Given the description of an element on the screen output the (x, y) to click on. 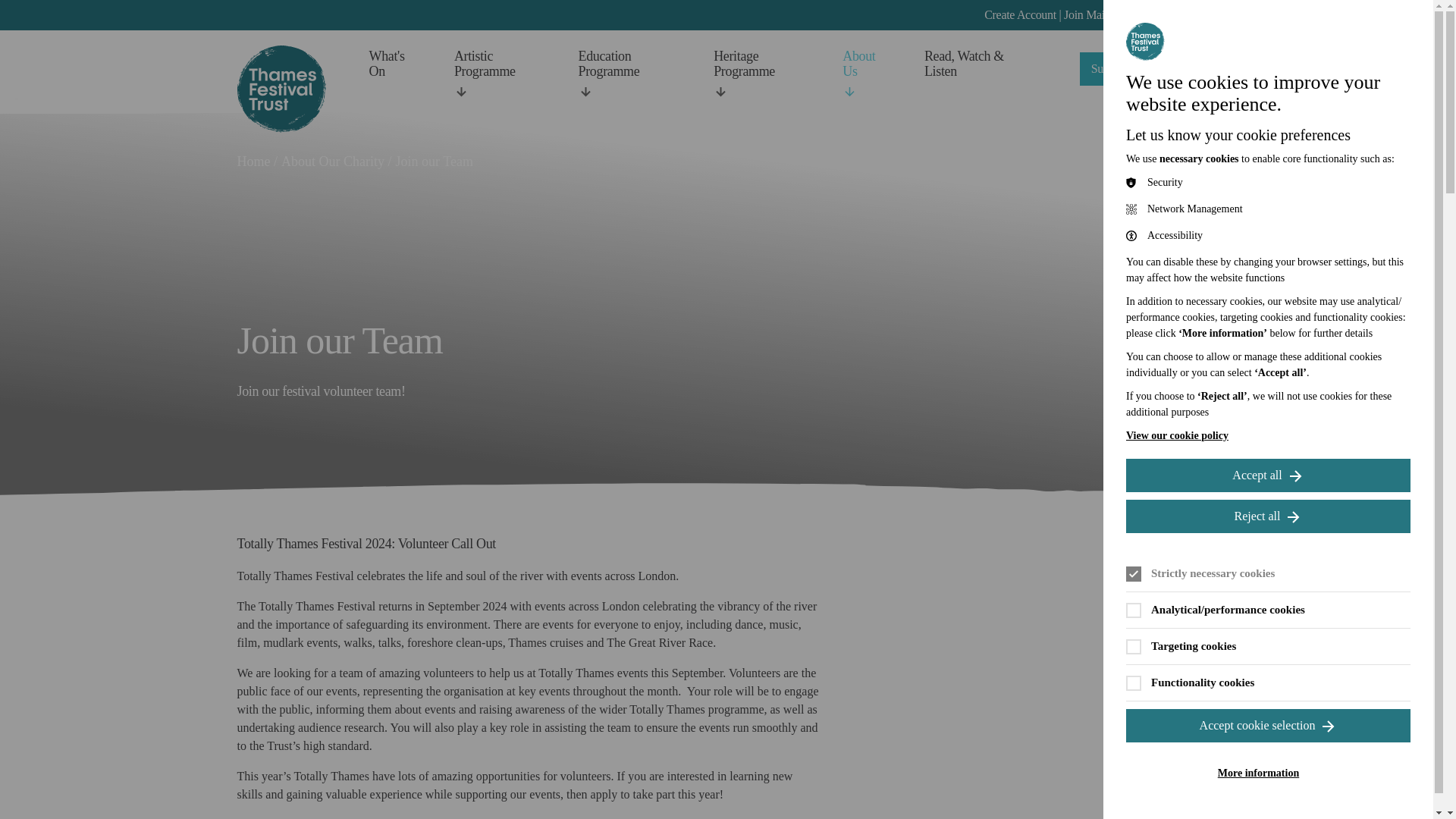
Support our Work (1144, 68)
Education Programme (625, 74)
Heritage Programme (757, 74)
Thames Festival Trust Logo (280, 88)
Thames Festival Trust (280, 88)
Artistic Programme (495, 74)
Education Programme (625, 74)
Artistic Programme (495, 74)
Heritage Programme (757, 74)
